Given the description of an element on the screen output the (x, y) to click on. 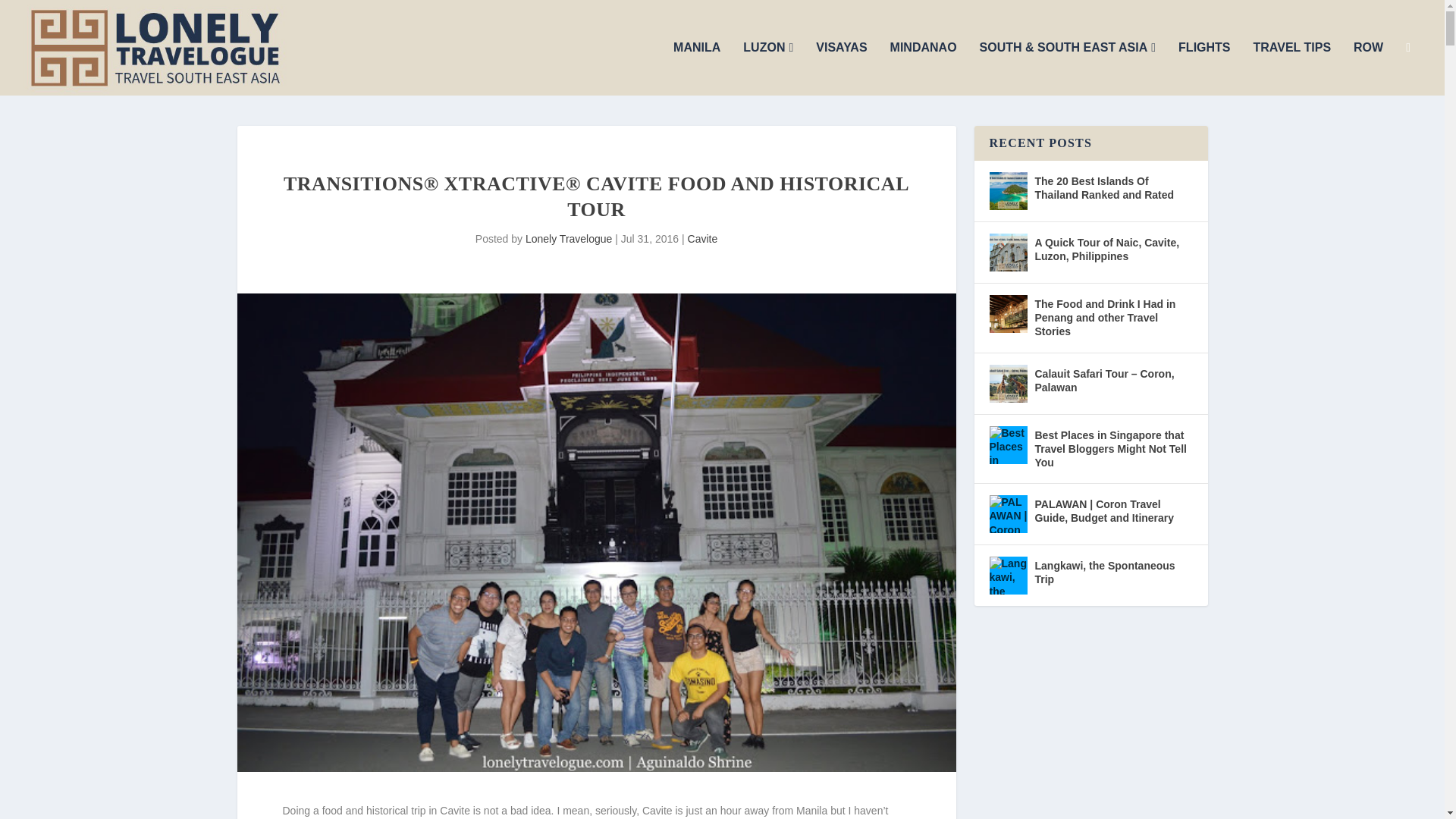
VISAYAS (840, 68)
MINDANAO (922, 68)
A Quick Tour of Naic, Cavite, Luzon, Philippines (1007, 252)
The Food and Drink I Had in Penang and other Travel Stories (1007, 313)
FLIGHTS (1203, 68)
The 20 Best Islands Of Thailand Ranked and Rated (1007, 190)
Posts by Lonely Travelogue (568, 238)
LUZON (767, 68)
Langkawi, the Spontaneous Trip (1007, 575)
